Given the description of an element on the screen output the (x, y) to click on. 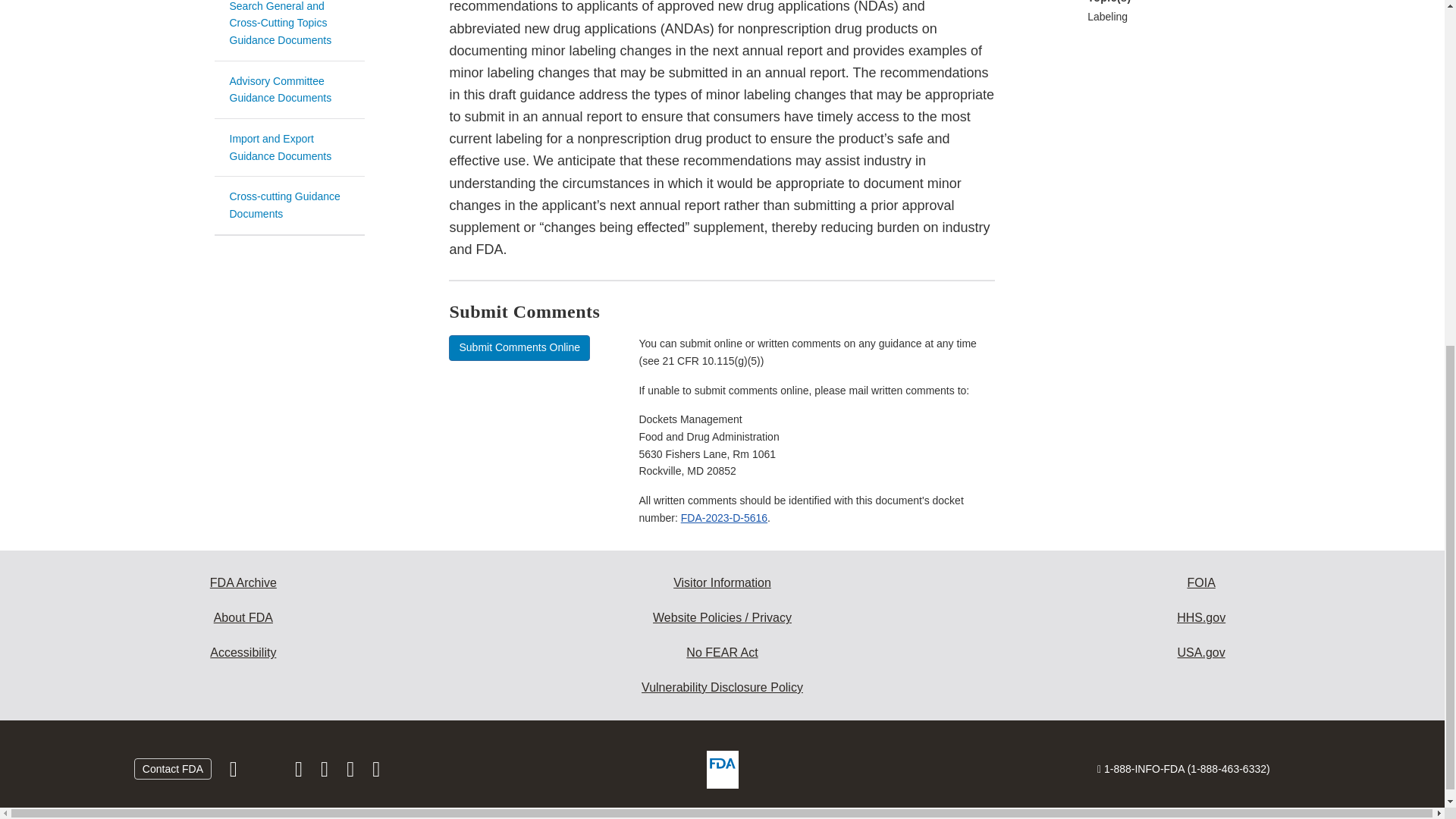
Follow FDA on LinkedIn (326, 772)
Subscribe to FDA RSS feeds (376, 772)
Follow FDA on X (266, 772)
Freedom of Information Act (1200, 582)
Health and Human Services (1200, 617)
View FDA videos on YouTube (352, 772)
Follow FDA on Facebook (234, 772)
Follow FDA on Instagram (299, 772)
